Given the description of an element on the screen output the (x, y) to click on. 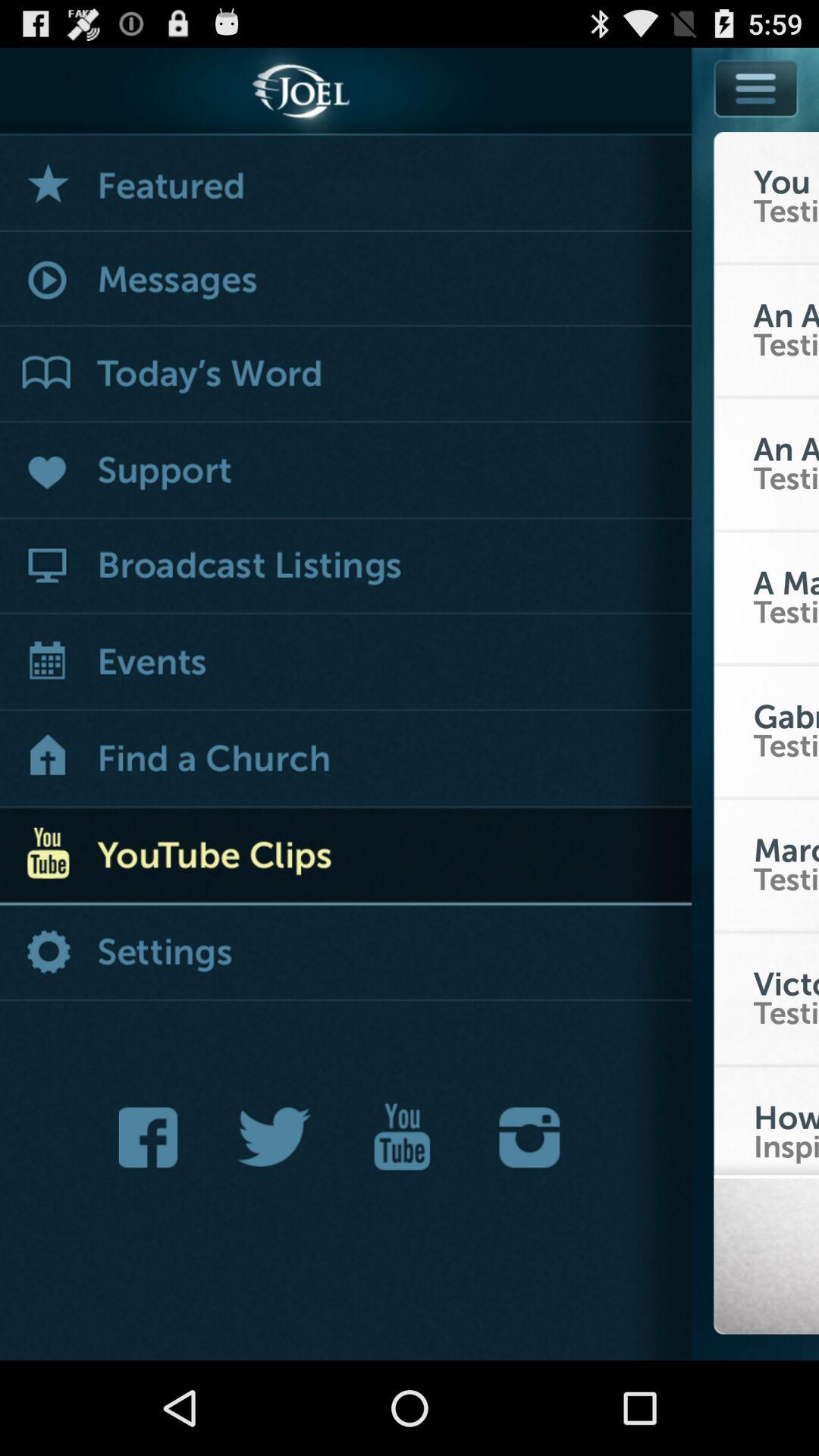
find a church (345, 760)
